Given the description of an element on the screen output the (x, y) to click on. 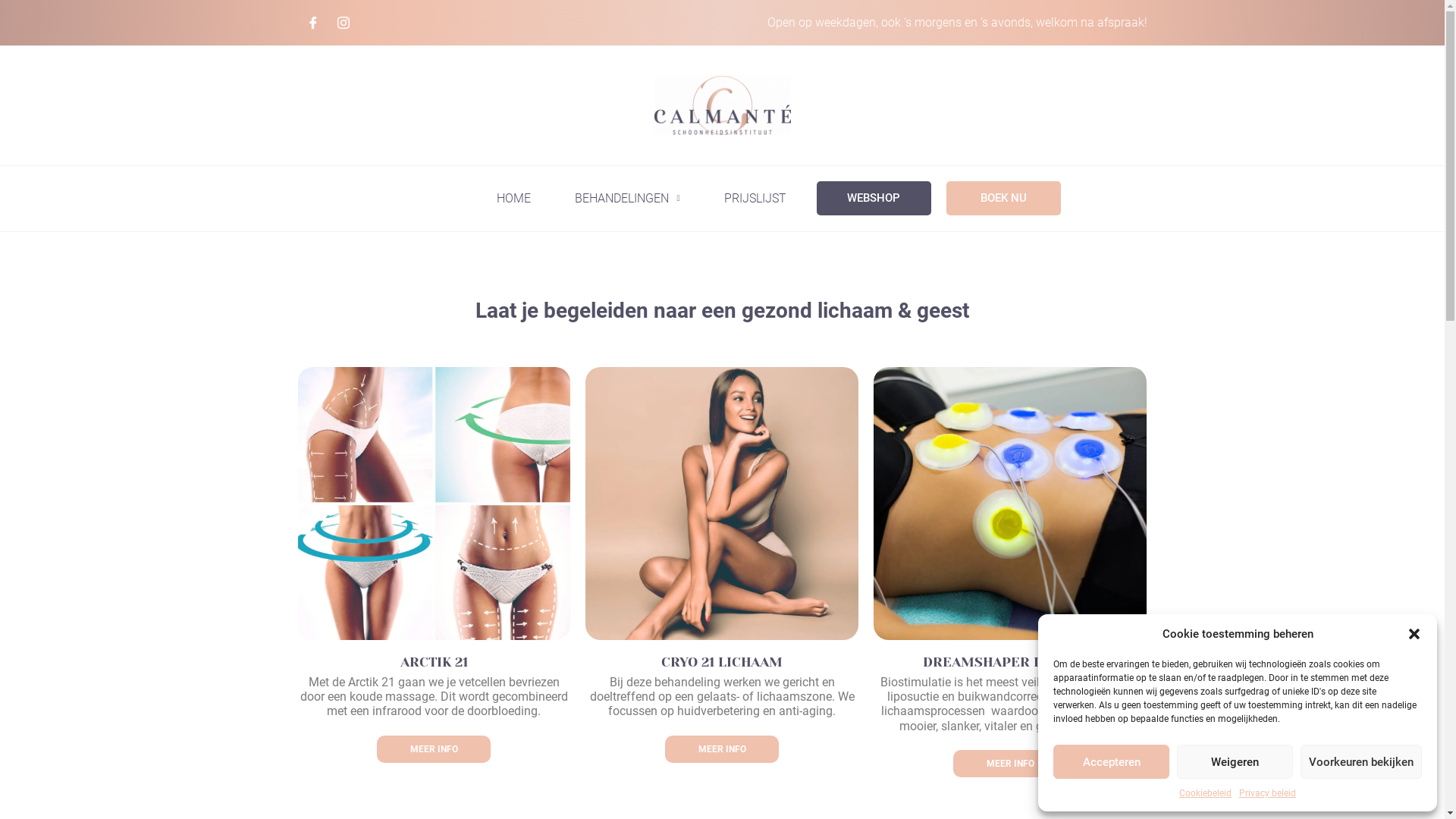
MEER INFO Element type: text (1009, 763)
Accepteren Element type: text (1111, 761)
Voorkeuren bekijken Element type: text (1360, 761)
BOEK NU Element type: text (1003, 198)
MEER INFO Element type: text (721, 748)
WEBSHOP Element type: text (872, 198)
BEHANDELINGEN Element type: text (626, 198)
Cookiebeleid Element type: text (1205, 793)
HOME Element type: text (513, 198)
Weigeren Element type: text (1234, 761)
PRIJSLIJST Element type: text (754, 198)
Privacy beleid Element type: text (1267, 793)
MEER INFO Element type: text (433, 748)
